Given the description of an element on the screen output the (x, y) to click on. 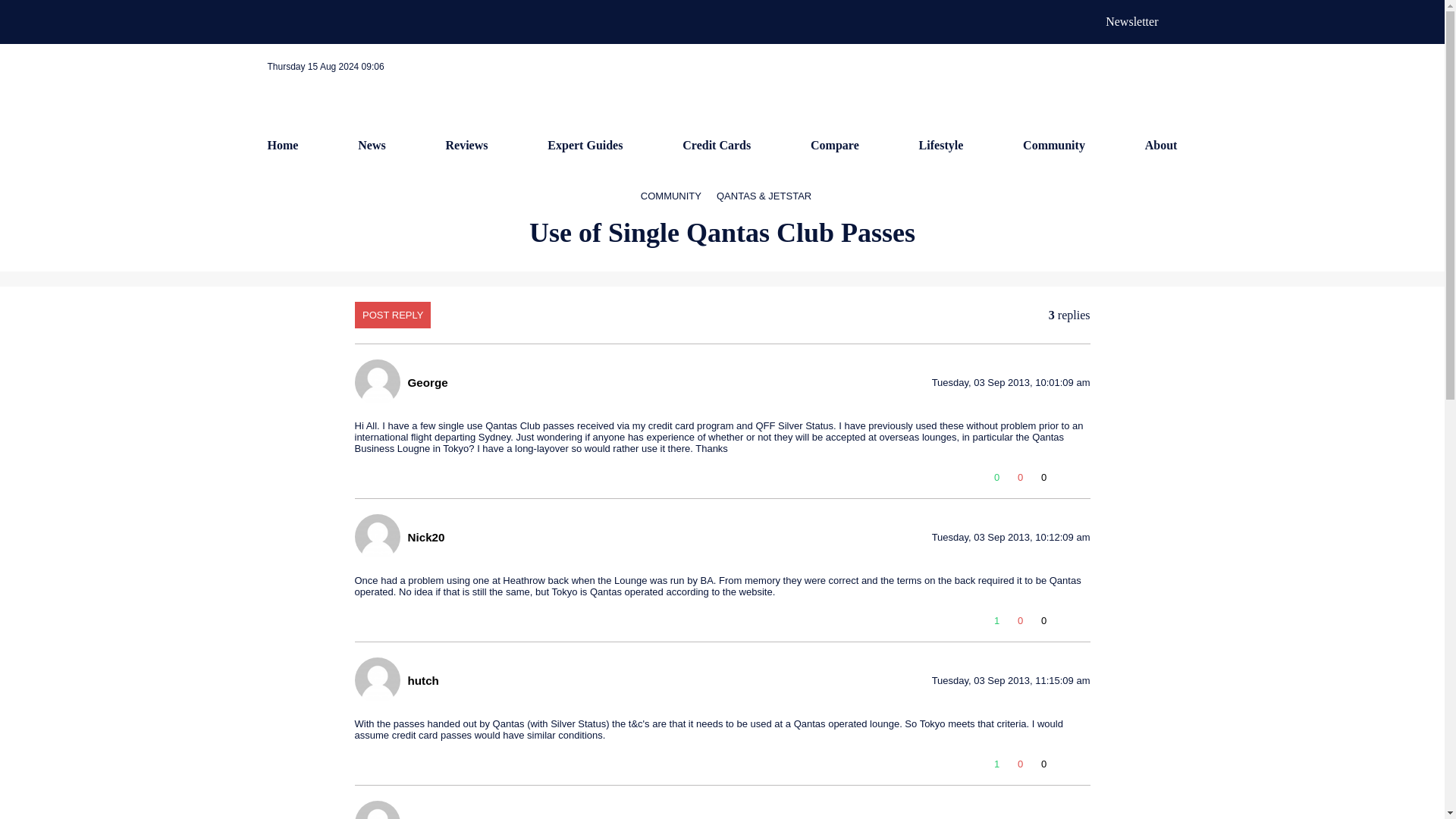
Nick20 (426, 536)
hutch (423, 679)
Reply with Quote (1064, 623)
George (427, 382)
Report this post (1082, 480)
Reply with Quote (1064, 480)
Report this post (1082, 623)
